Given the description of an element on the screen output the (x, y) to click on. 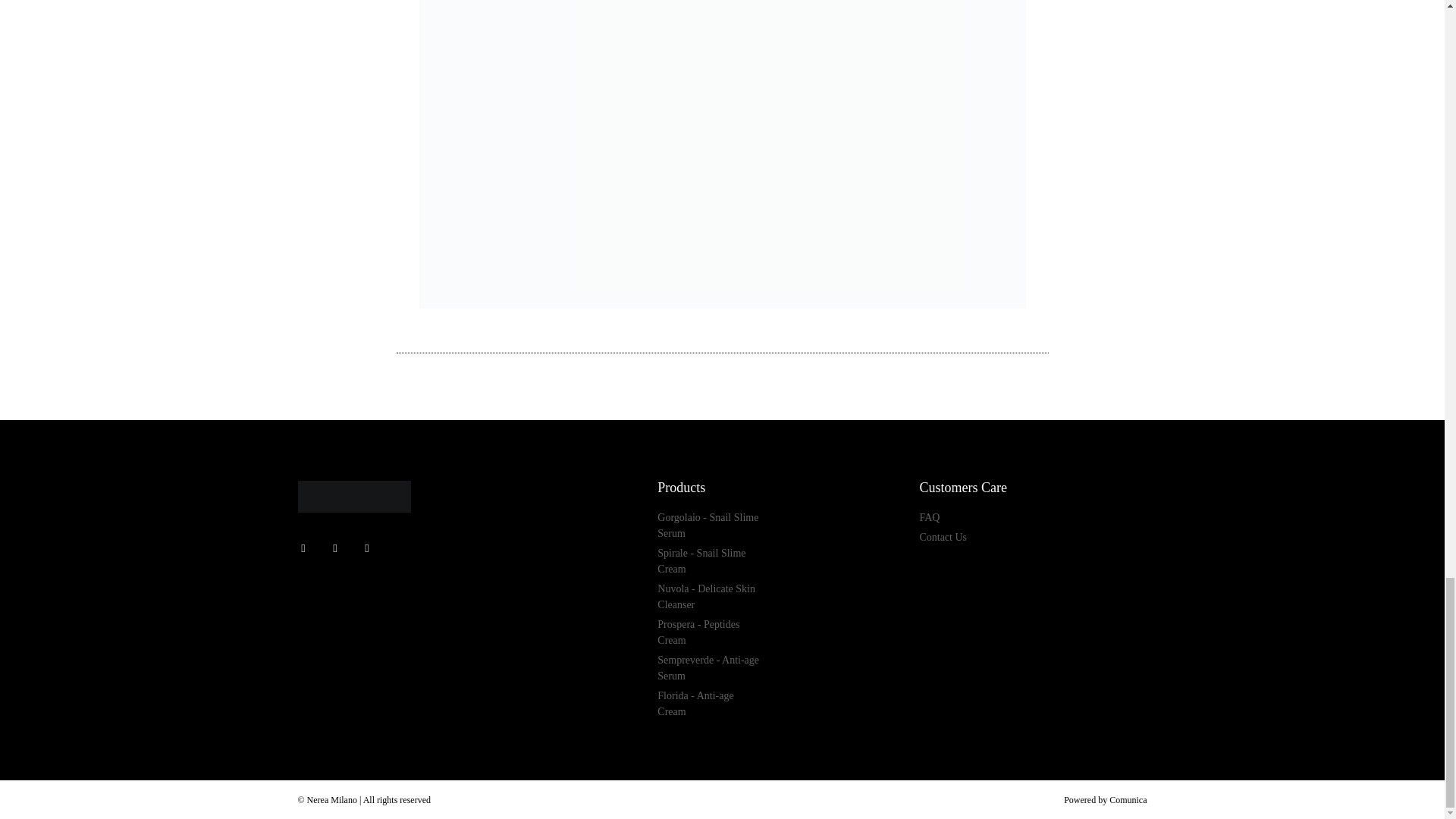
Gorgolaio - Snail Slime Serum (710, 525)
Cookie Policy (841, 571)
Sempreverde - Anti-age Serum (710, 667)
Spirale - Snail Slime Cream (710, 561)
Prospera - Peptides Cream (710, 632)
Florida - Anti-age Cream (710, 703)
Nuvola - Delicate Skin Cleanser (710, 596)
FAQ (971, 517)
Privacy Policy (841, 553)
Snail Slime for Your Skincare (1094, 538)
